Given the description of an element on the screen output the (x, y) to click on. 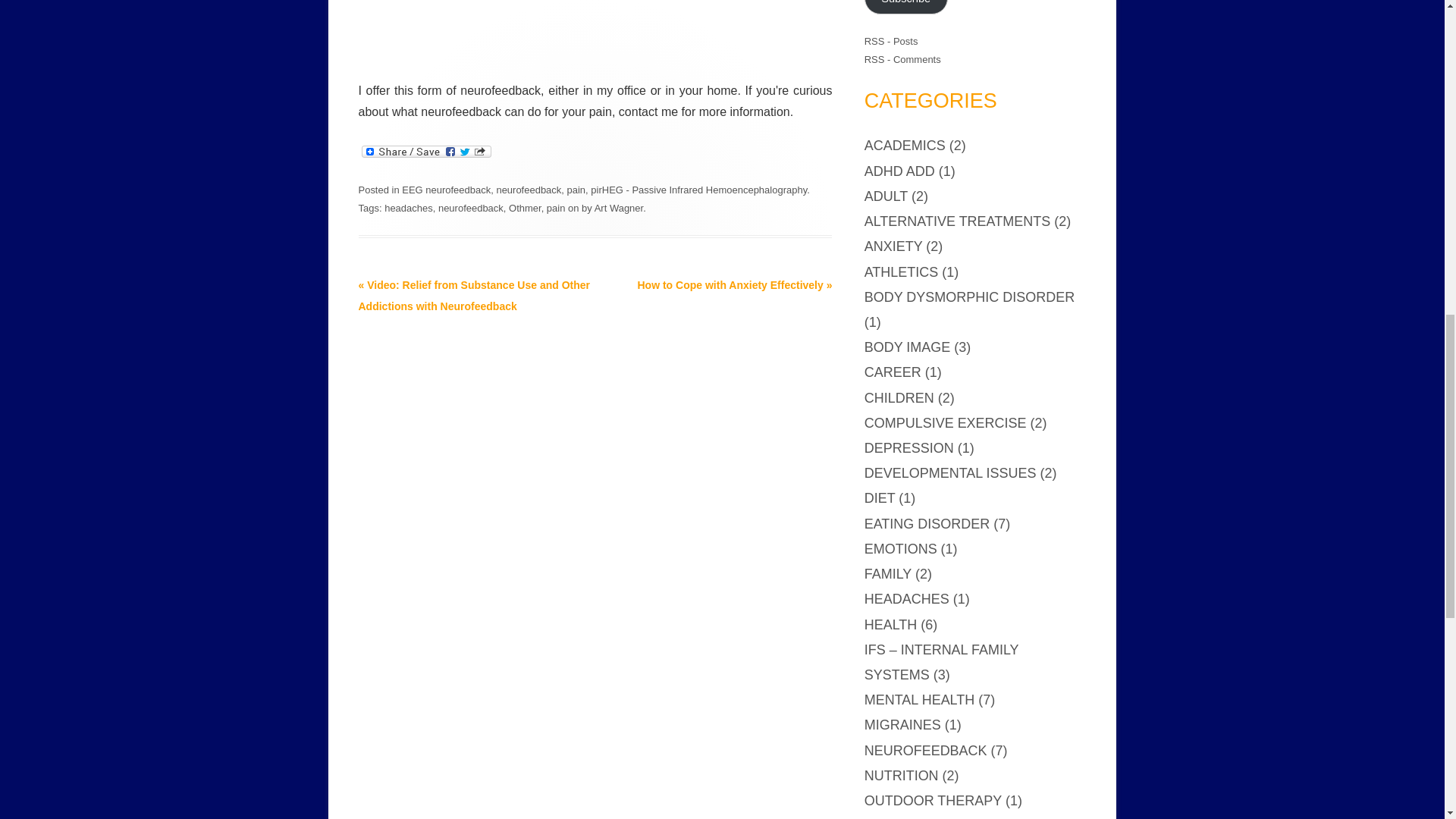
Othmer (524, 206)
Art Wagner (618, 206)
pain (556, 206)
neurofeedback (528, 189)
ADULT (885, 196)
Subscribe to comments (902, 59)
EEG neurofeedback (445, 189)
ALTERNATIVE TREATMENTS (956, 221)
BODY IMAGE (907, 346)
RSS - Posts (891, 41)
